Given the description of an element on the screen output the (x, y) to click on. 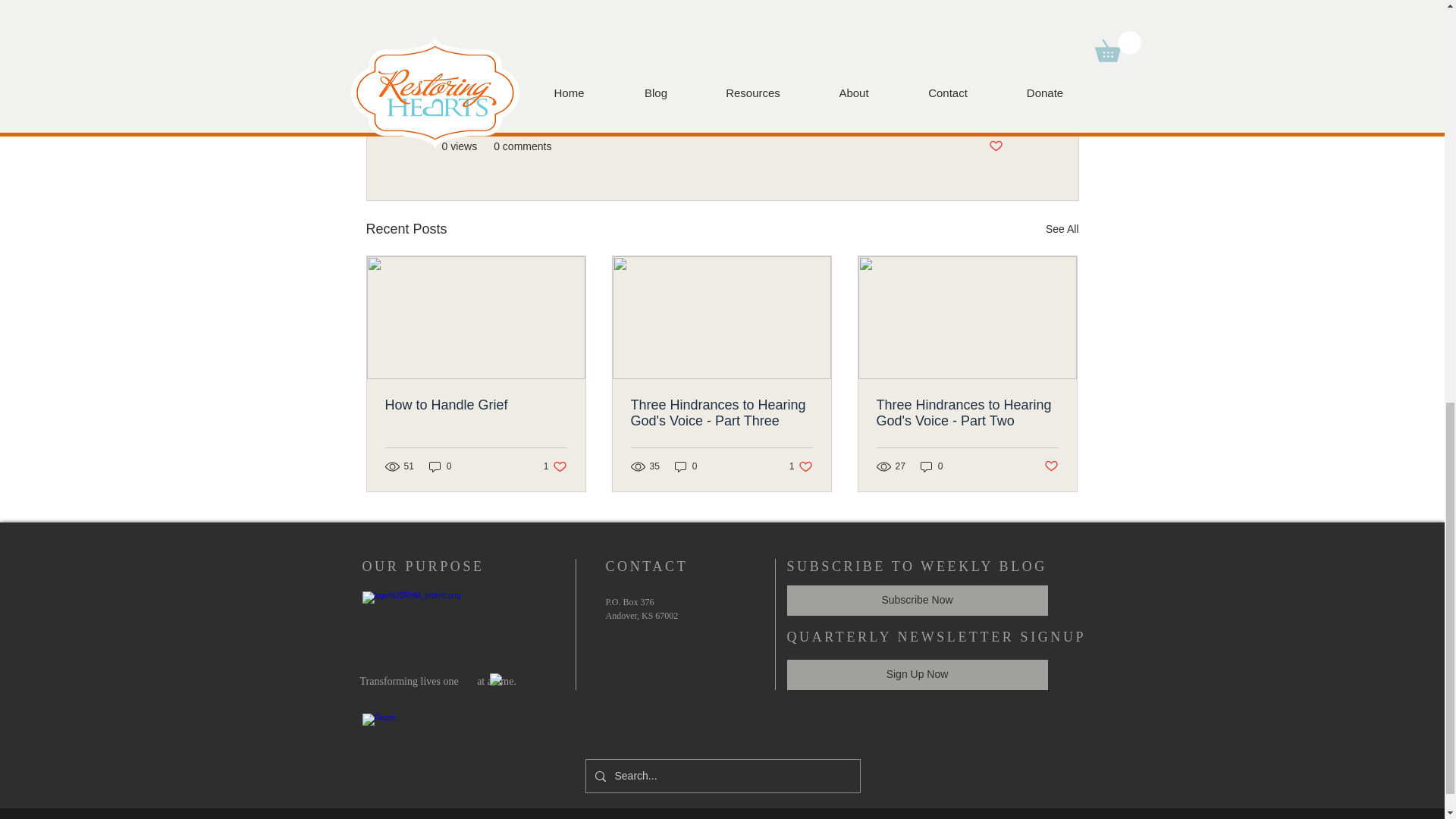
Three Hindrances to Hearing God's Voice - Part Two (967, 413)
Post not marked as liked (555, 466)
See All (995, 146)
0 (1061, 229)
Three Hindrances to Hearing God's Voice - Part Three (931, 466)
0 (721, 413)
How to Handle Grief (440, 466)
Post not marked as liked (476, 405)
